Given the description of an element on the screen output the (x, y) to click on. 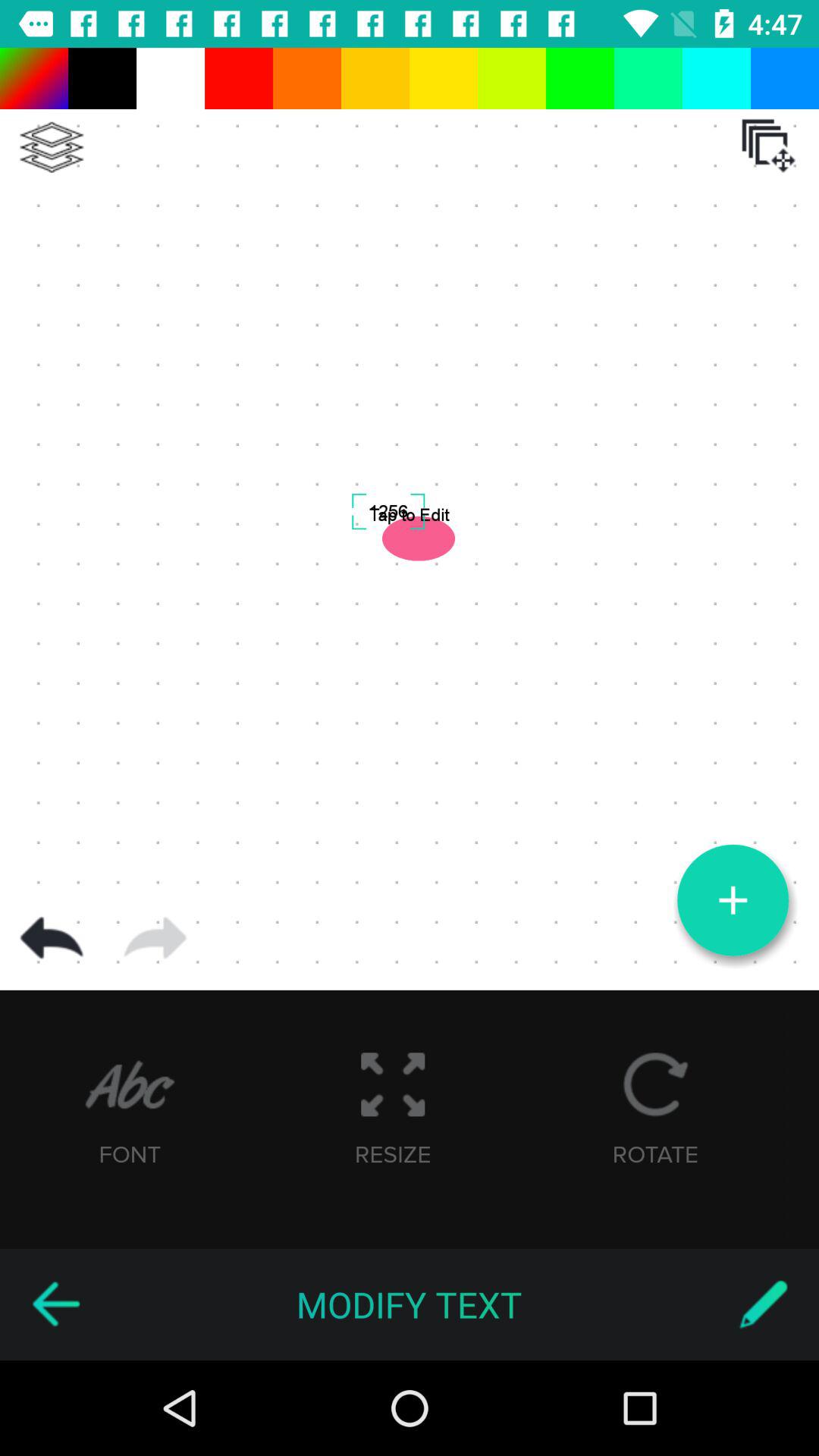
go to previous (51, 938)
